Given the description of an element on the screen output the (x, y) to click on. 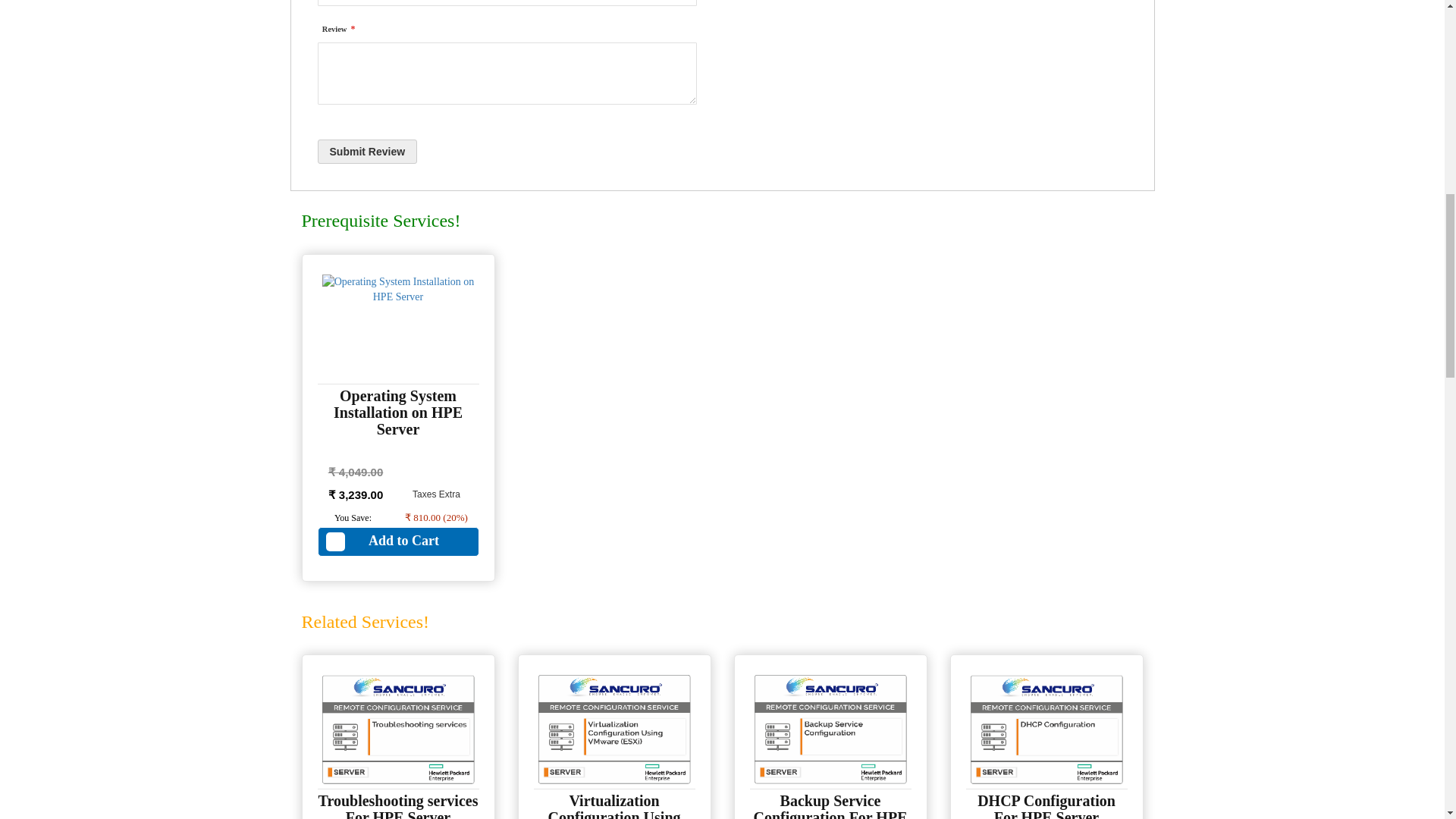
Troubleshooting services For HPE Server Configuration (398, 805)
Operating System Installation on HPE  Server (398, 412)
Backup Service Configuration For HPE Server (830, 805)
DHCP Configuration For HPE Server (1045, 805)
